Given the description of an element on the screen output the (x, y) to click on. 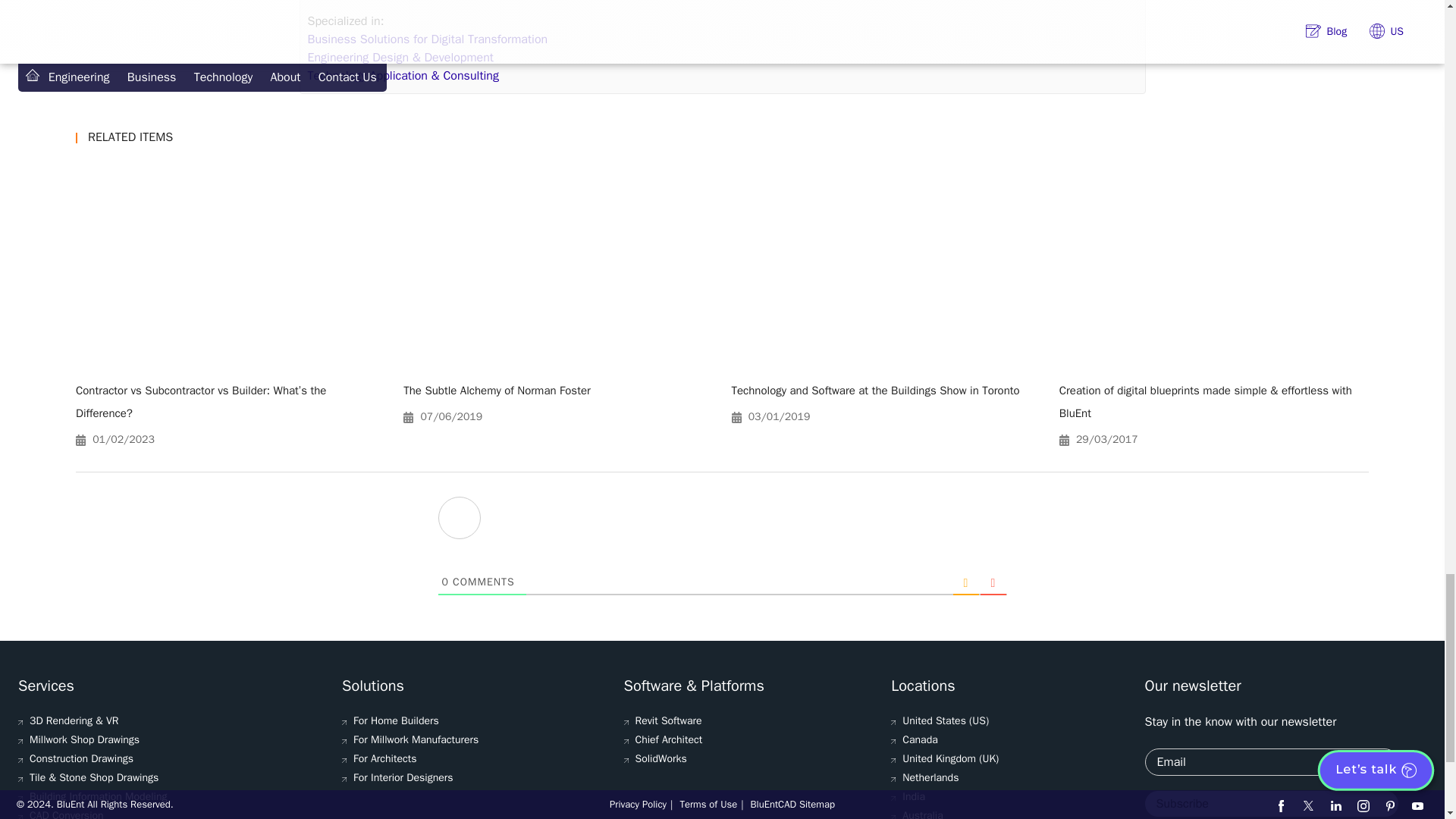
Millwork Shop Drawings (84, 739)
BIM Services (98, 796)
Tile Shop Drawings (93, 777)
Subscribe (1270, 803)
3D Rendering (73, 720)
Construction Drawings (81, 758)
CAD Conversion (66, 814)
